Given the description of an element on the screen output the (x, y) to click on. 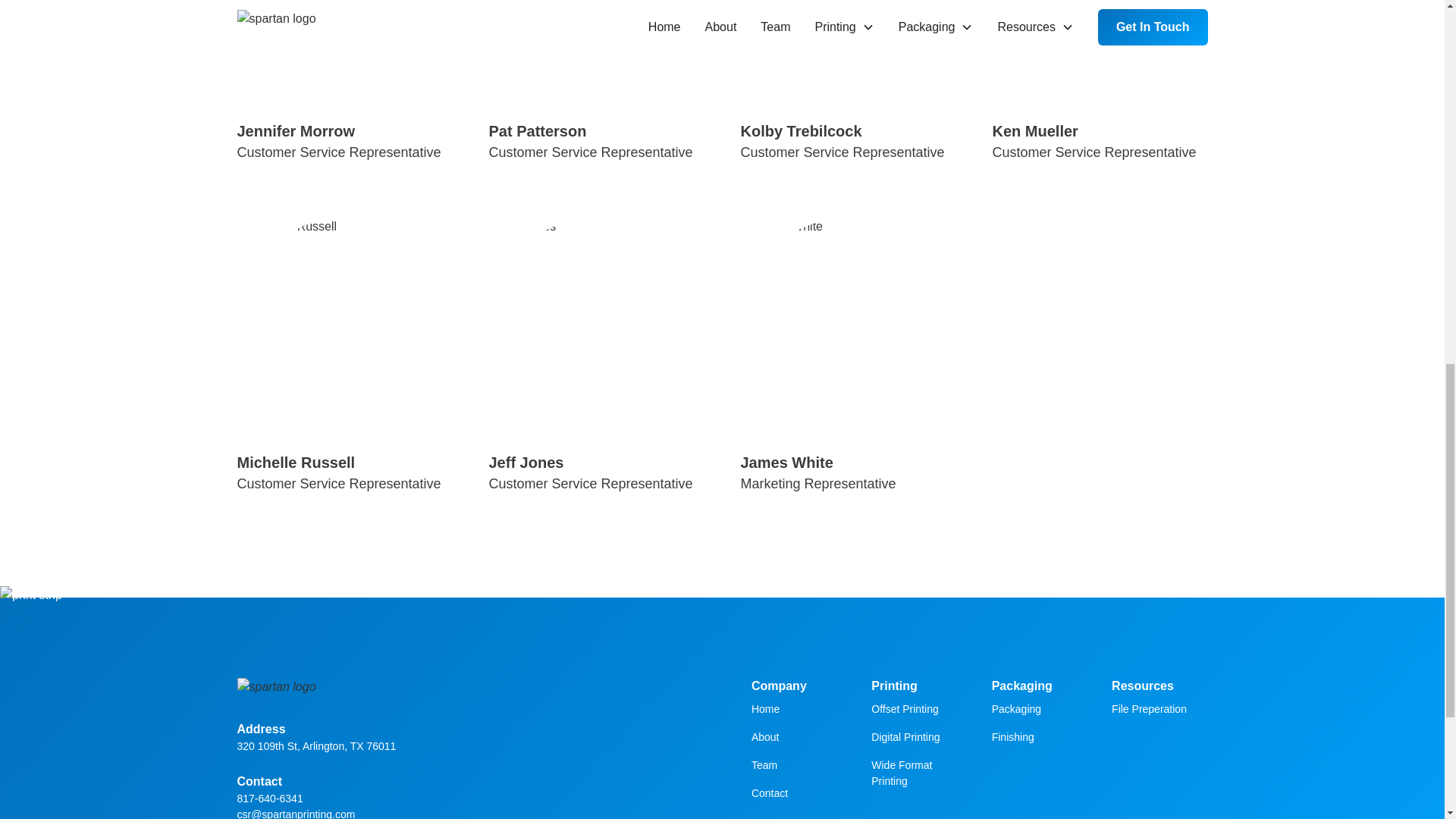
File Preperation (1149, 709)
Finishing (1012, 737)
Offset Printing (903, 709)
817-640-6341 (343, 84)
About (464, 798)
Team (847, 84)
Contact (1099, 84)
